Given the description of an element on the screen output the (x, y) to click on. 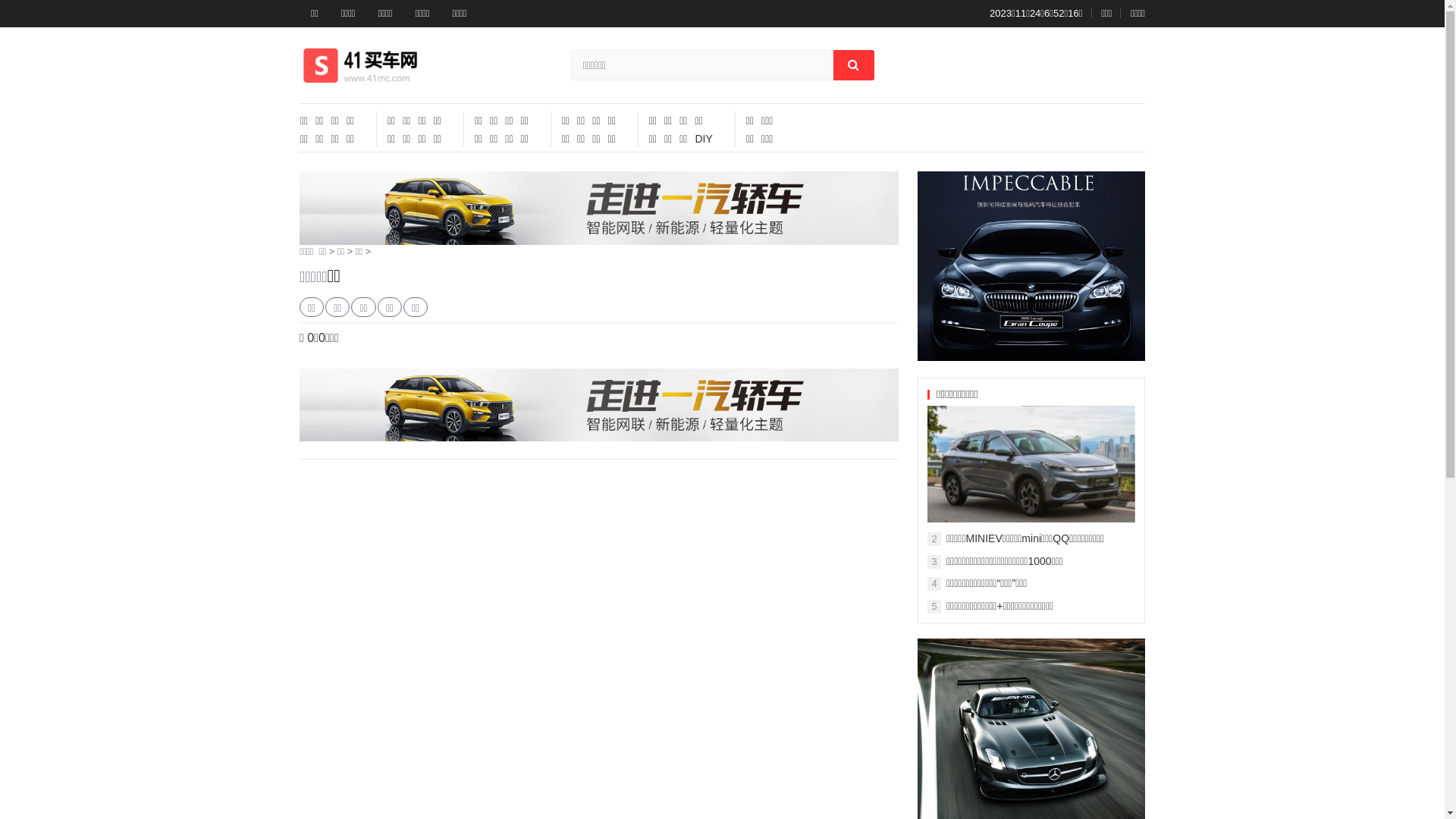
DIY Element type: text (702, 138)
